Given the description of an element on the screen output the (x, y) to click on. 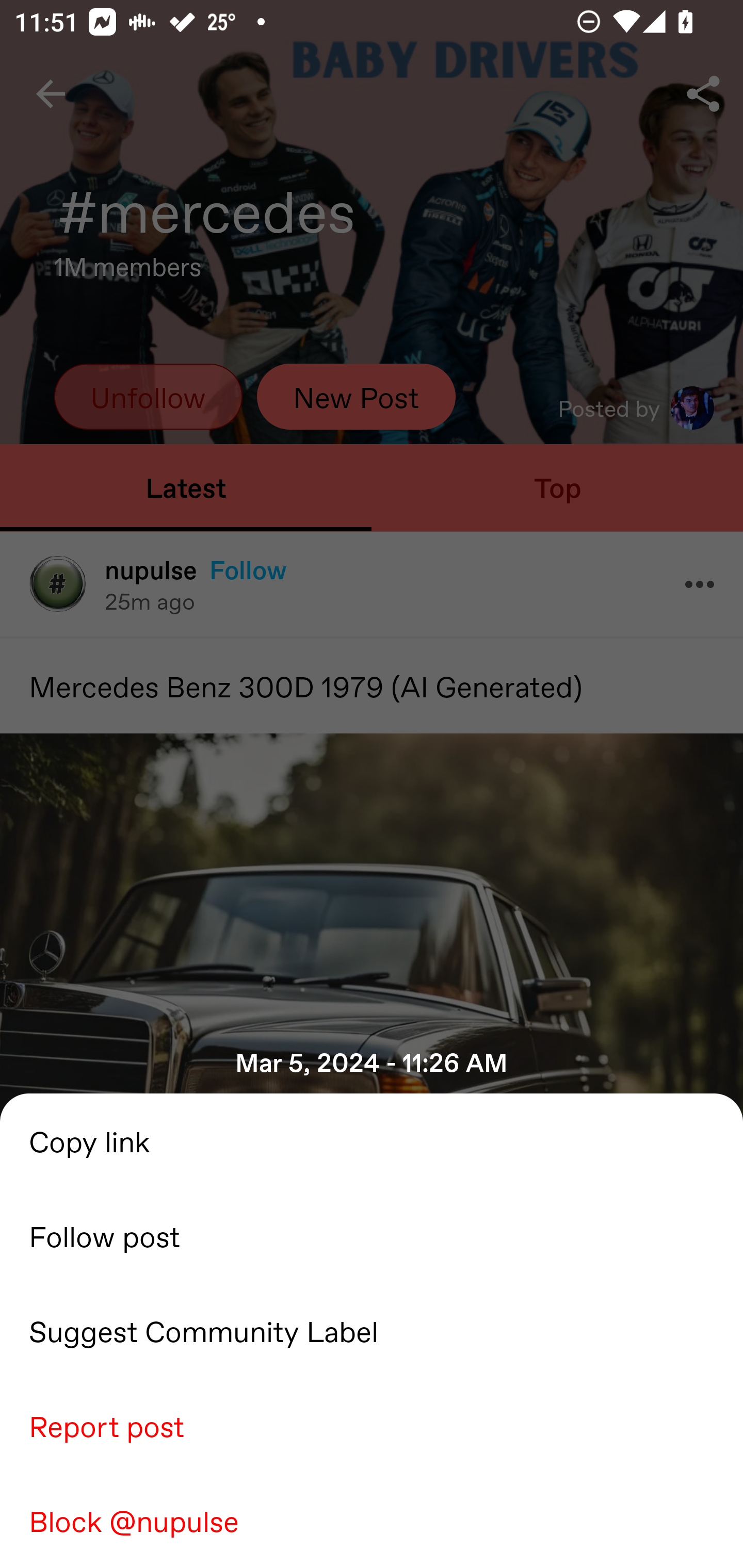
Copy link (371, 1140)
Follow post (371, 1235)
Suggest Community Label (371, 1330)
Report post (371, 1425)
Block @nupulse (371, 1520)
